Given the description of an element on the screen output the (x, y) to click on. 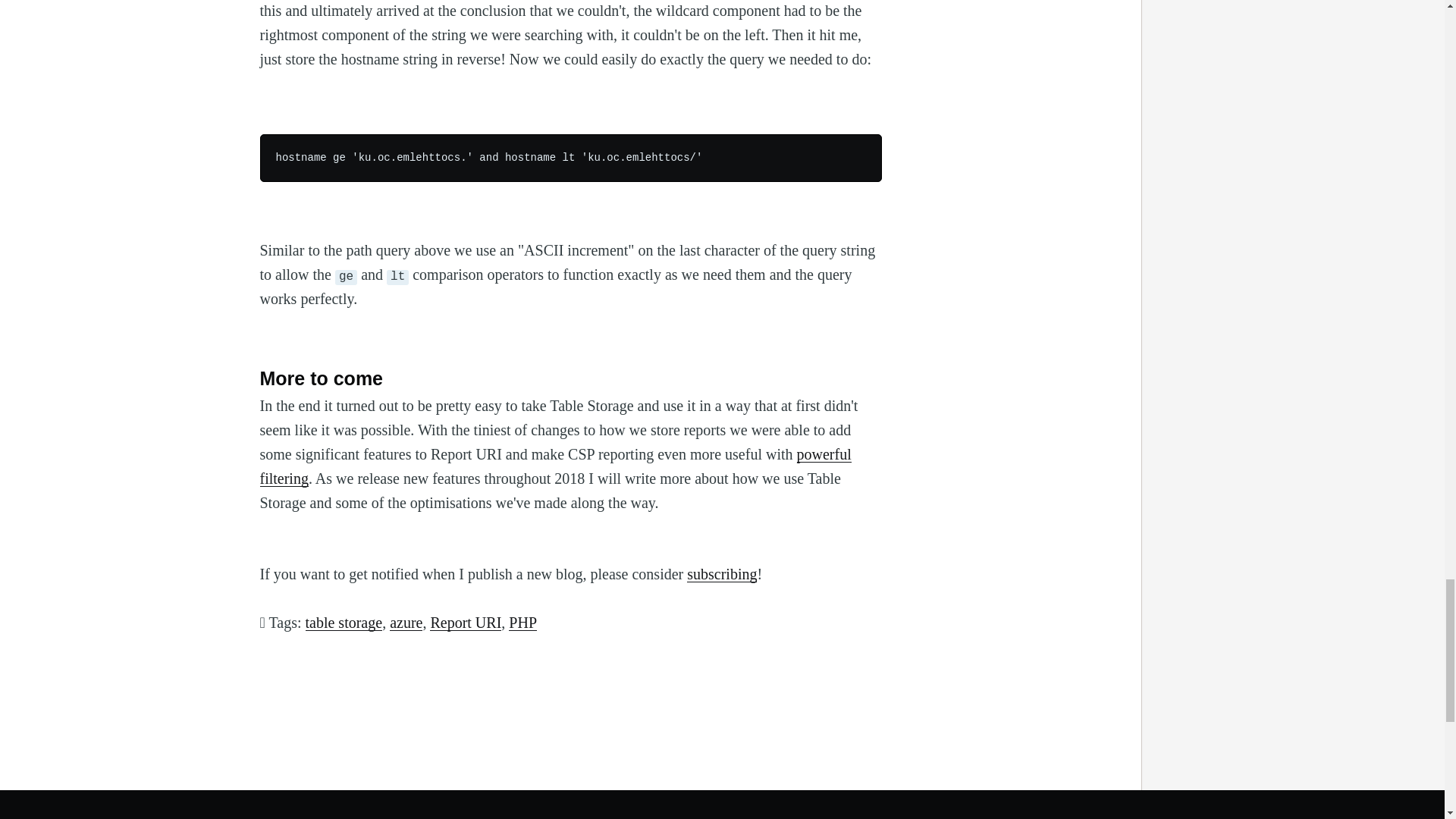
Report URI (464, 622)
subscribing (722, 573)
powerful filtering (554, 465)
azure (406, 622)
PHP (522, 622)
table storage (342, 622)
